Given the description of an element on the screen output the (x, y) to click on. 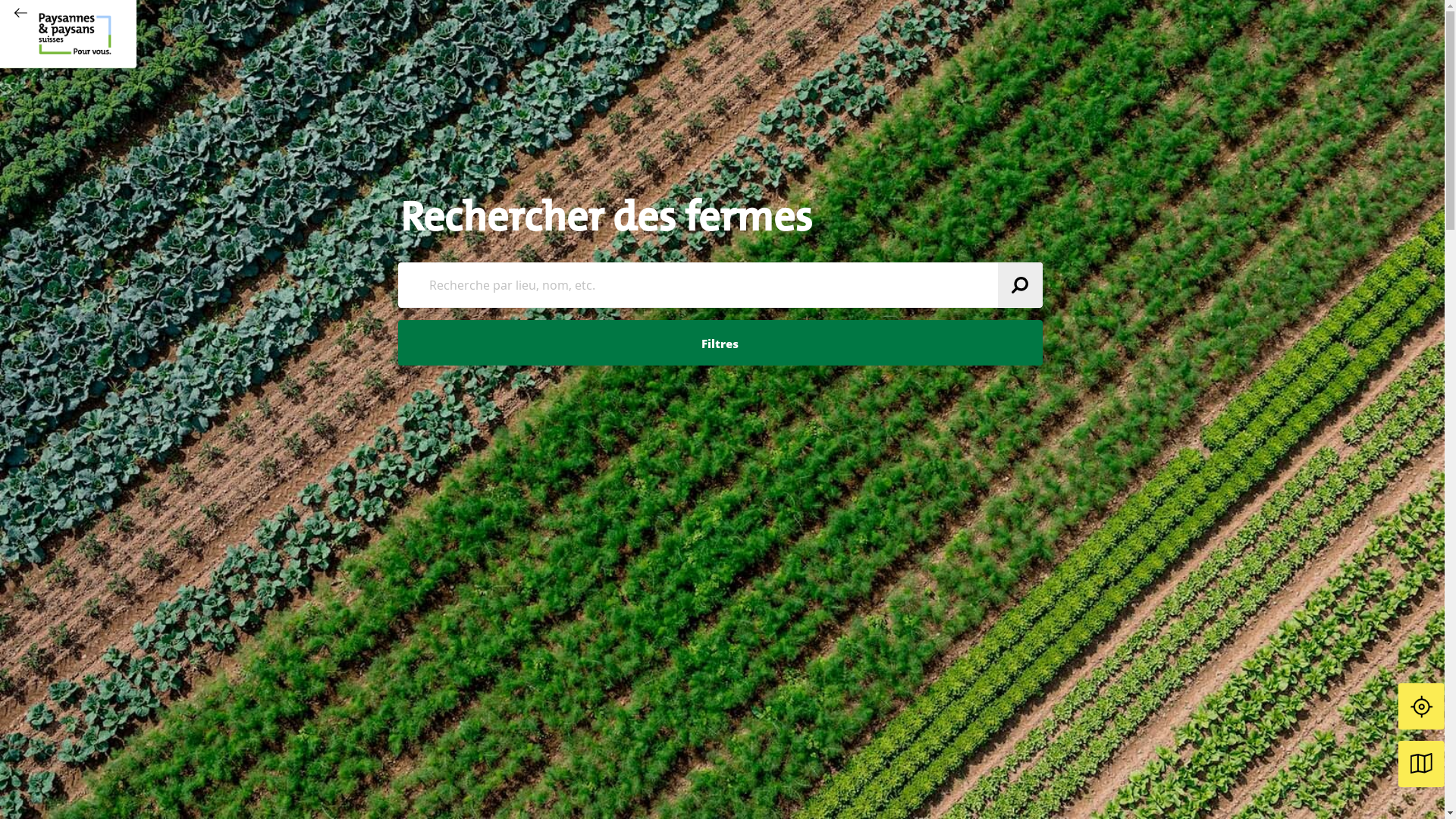
Activer la position actuelle Element type: hover (1421, 706)
Filtres Element type: text (719, 342)
